Given the description of an element on the screen output the (x, y) to click on. 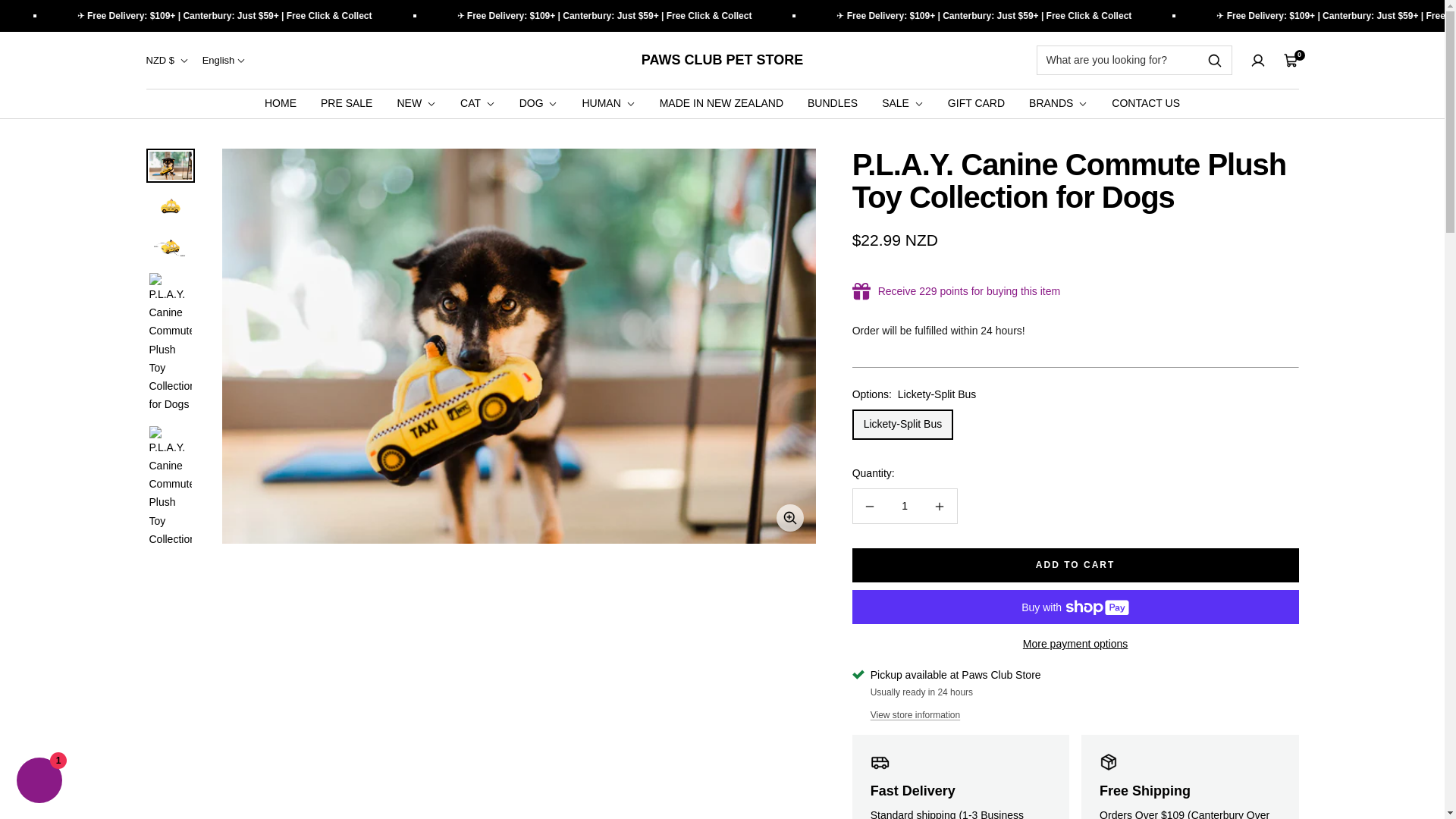
GIFT CARD (975, 103)
zh-CN (212, 135)
English (224, 60)
CONTACT US (1145, 103)
NZ (160, 158)
NEW (415, 103)
HOME (280, 103)
SALE (902, 103)
PAWS CLUB PET STORE (722, 60)
CN (160, 135)
PRE SALE (346, 103)
DOG (538, 103)
MADE IN NEW ZEALAND (721, 103)
BUNDLES (832, 103)
